Given the description of an element on the screen output the (x, y) to click on. 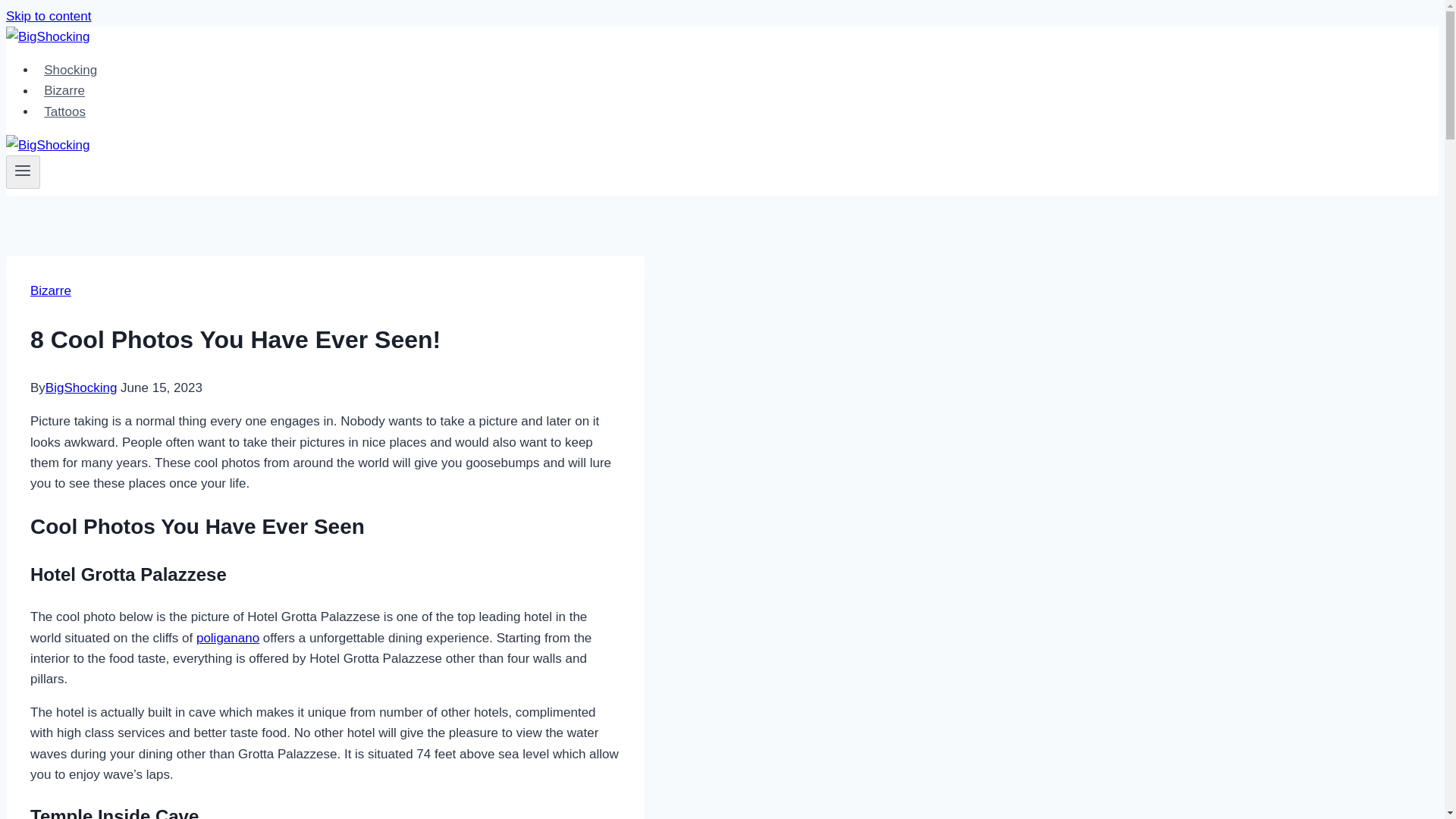
poliganano (227, 637)
Shocking (70, 70)
Toggle Menu (22, 172)
Tattoos (64, 111)
BigShocking (81, 387)
Bizarre (64, 90)
Skip to content (47, 16)
Bizarre (50, 290)
Skip to content (47, 16)
Toggle Menu (22, 170)
